Given the description of an element on the screen output the (x, y) to click on. 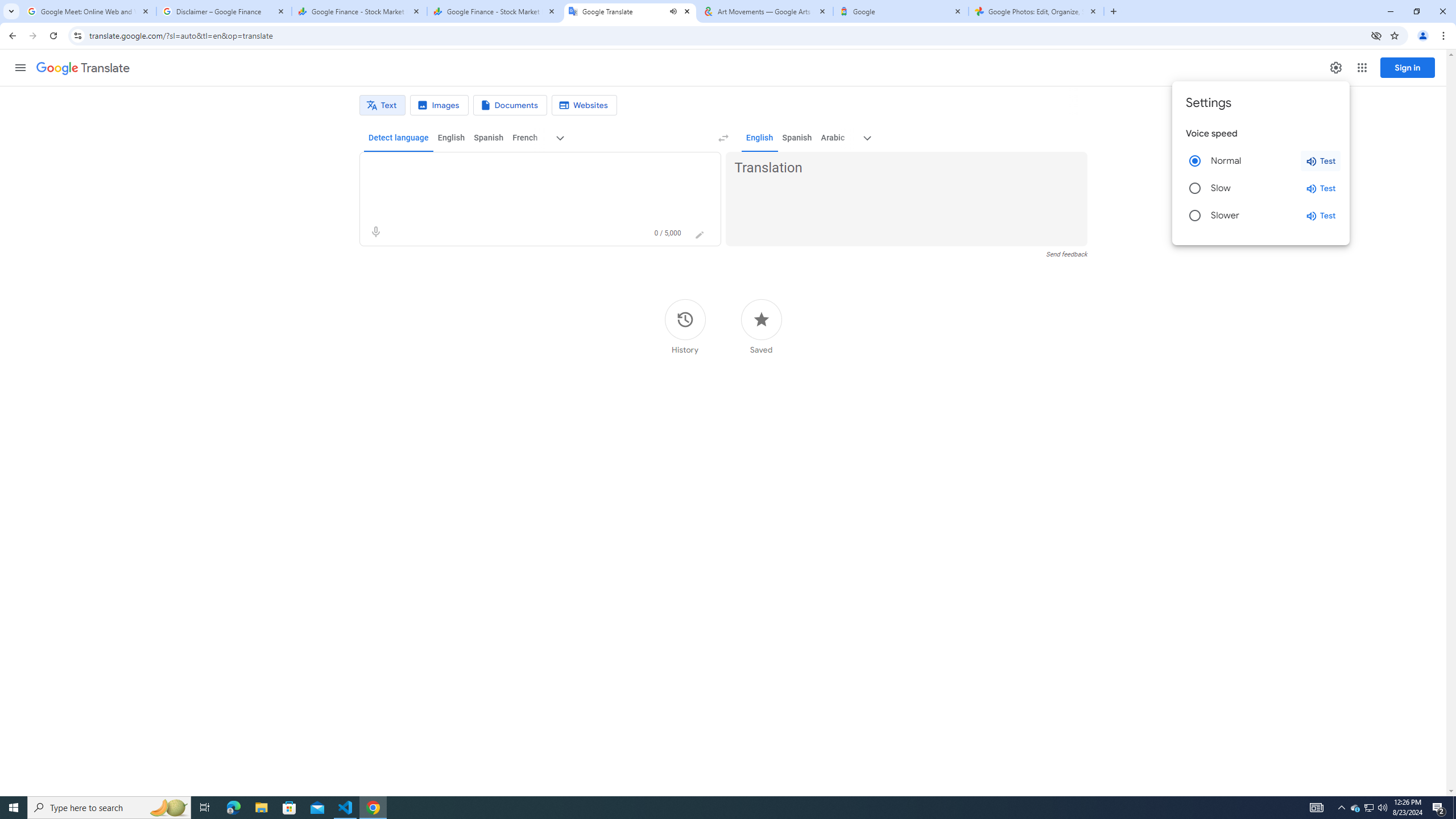
Image translation (439, 105)
Send feedback (1066, 253)
Mute tab (673, 10)
History (684, 326)
Normal (1194, 160)
0 of 5,000 characters used (667, 232)
Test normal speed (1320, 160)
More target languages (867, 137)
